Given the description of an element on the screen output the (x, y) to click on. 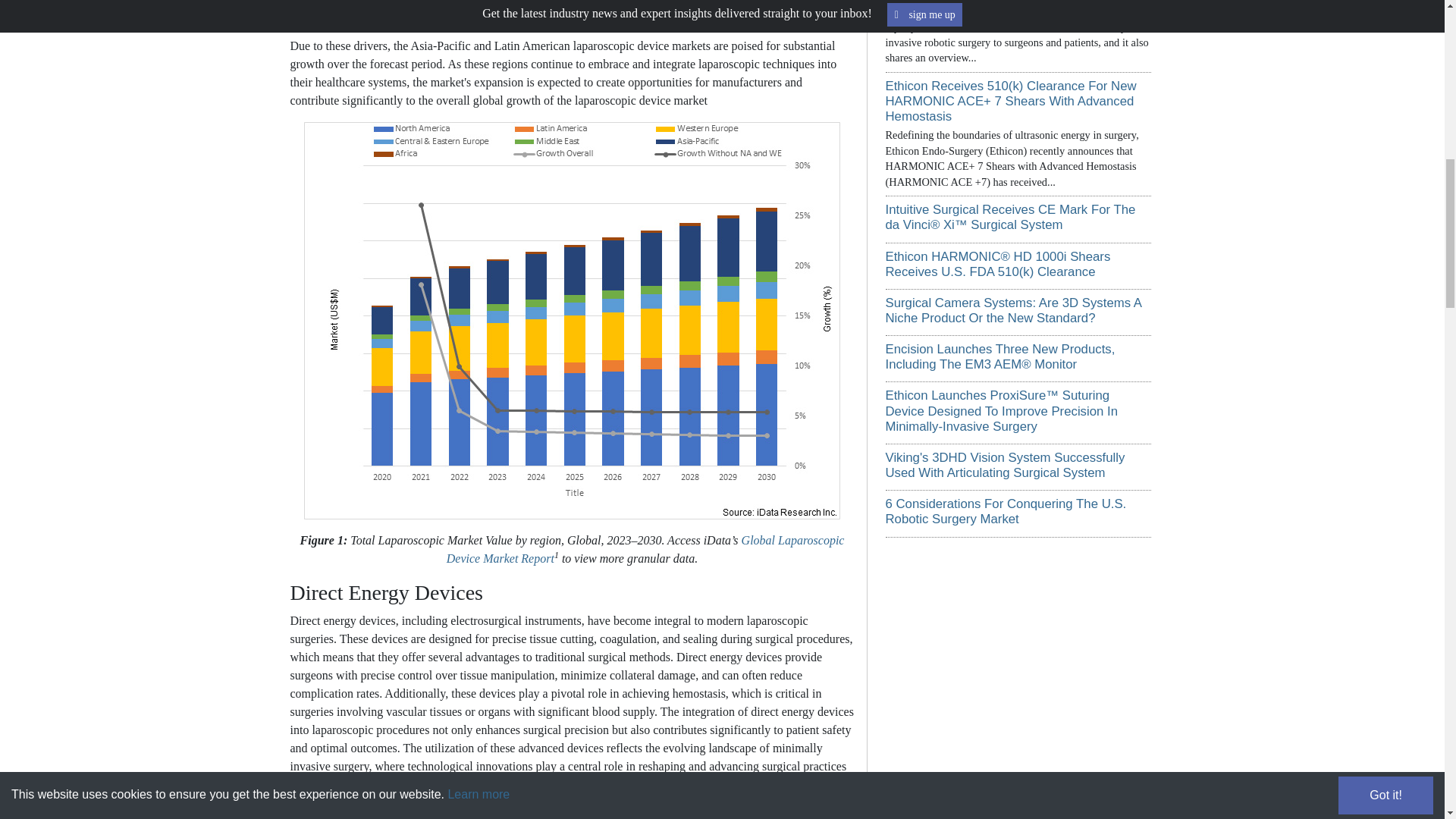
Global Laparoscopic Device Market Report (645, 549)
